Given the description of an element on the screen output the (x, y) to click on. 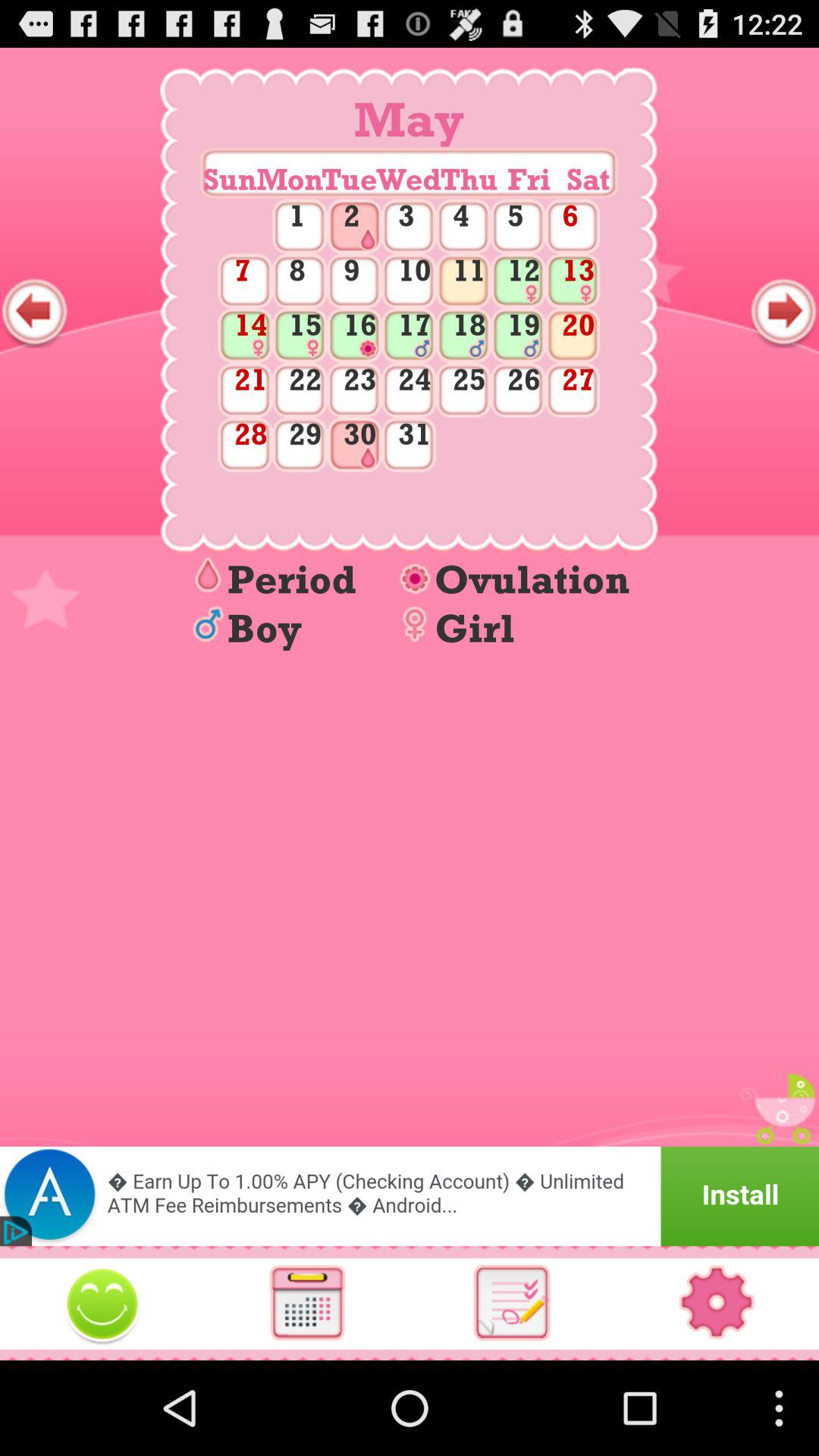
switch autoplay option (511, 1302)
